Given the description of an element on the screen output the (x, y) to click on. 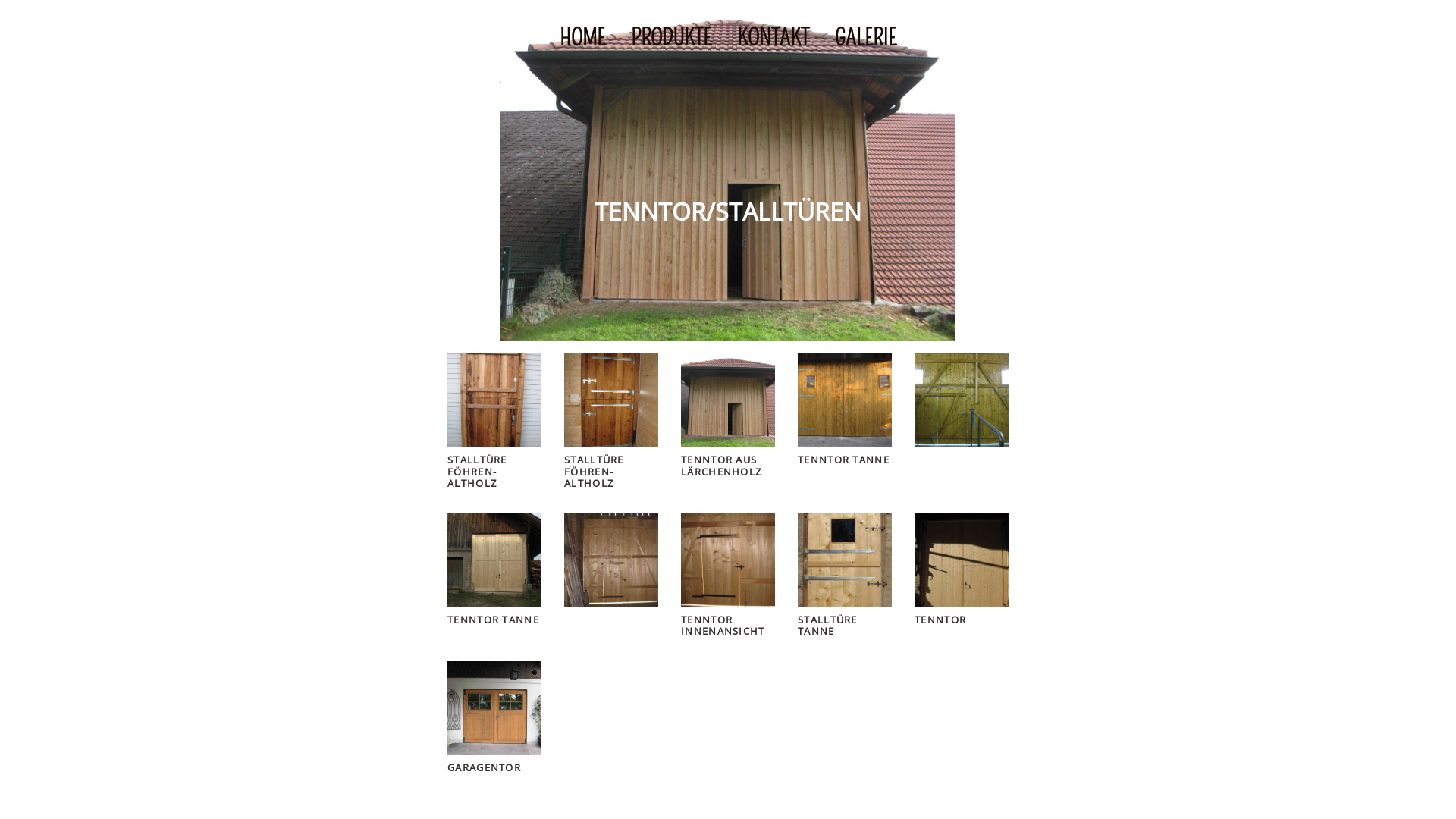
GALERIE Element type: text (865, 39)
Garagentor Element type: hover (494, 707)
KONTAKT Element type: text (773, 39)
Tenntor  Element type: hover (961, 559)
Tenntor Tanne Element type: hover (844, 399)
HOME Element type: text (582, 39)
Tenntor Tanne Element type: hover (494, 559)
Tenntor Innenansicht Element type: hover (727, 559)
PRODUKTE Element type: text (670, 39)
